Given the description of an element on the screen output the (x, y) to click on. 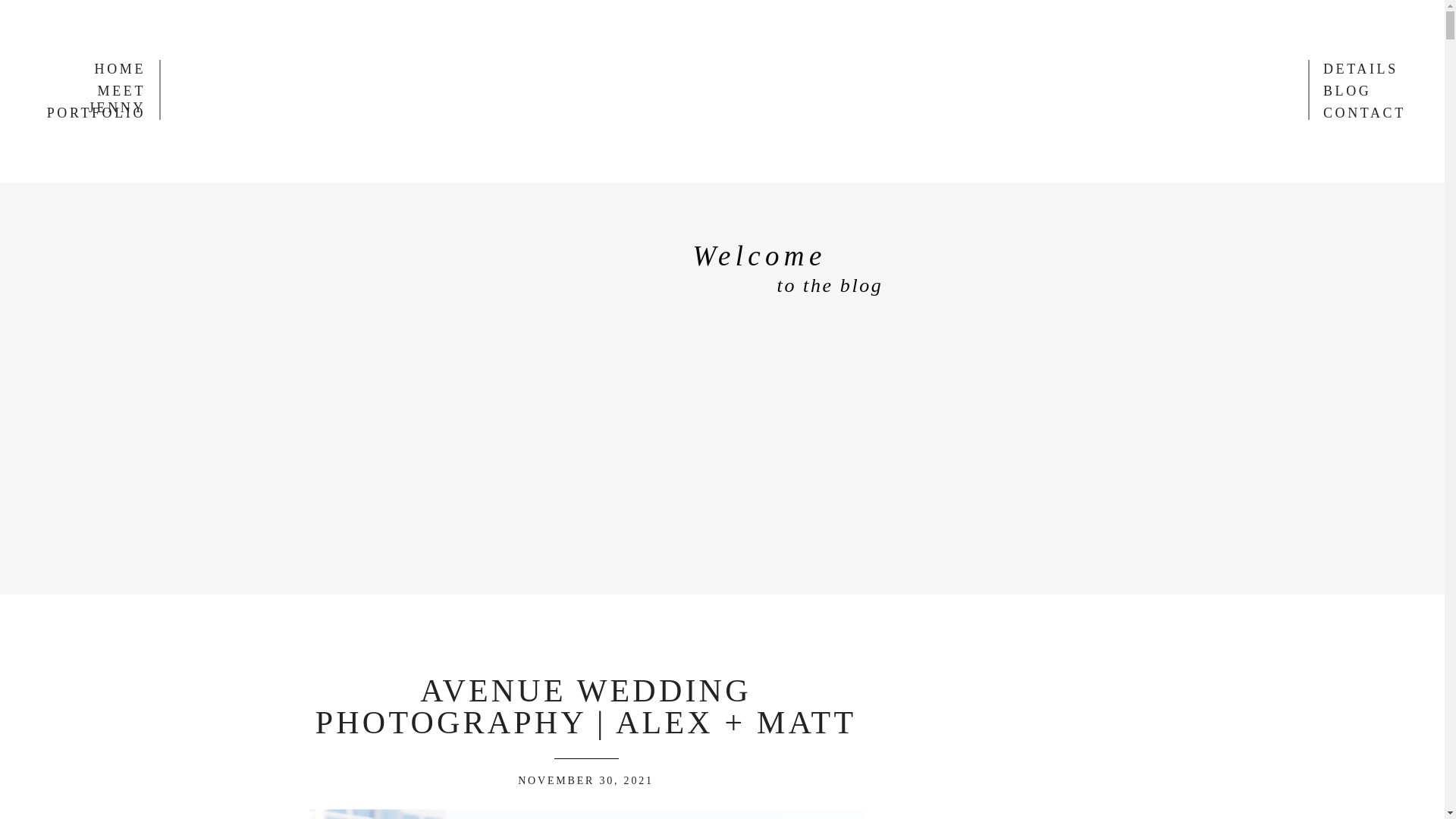
CONTACT (941, 19)
BLOG (855, 19)
DETAILS (774, 19)
PORTFOLIO (89, 111)
DETAILS (1366, 68)
MEET JENNY (89, 90)
CONTACT (1366, 111)
PORTFOLIO (670, 19)
MEET JENNY (550, 19)
BLOG (1366, 90)
HOME (453, 19)
HOME (102, 68)
